Given the description of an element on the screen output the (x, y) to click on. 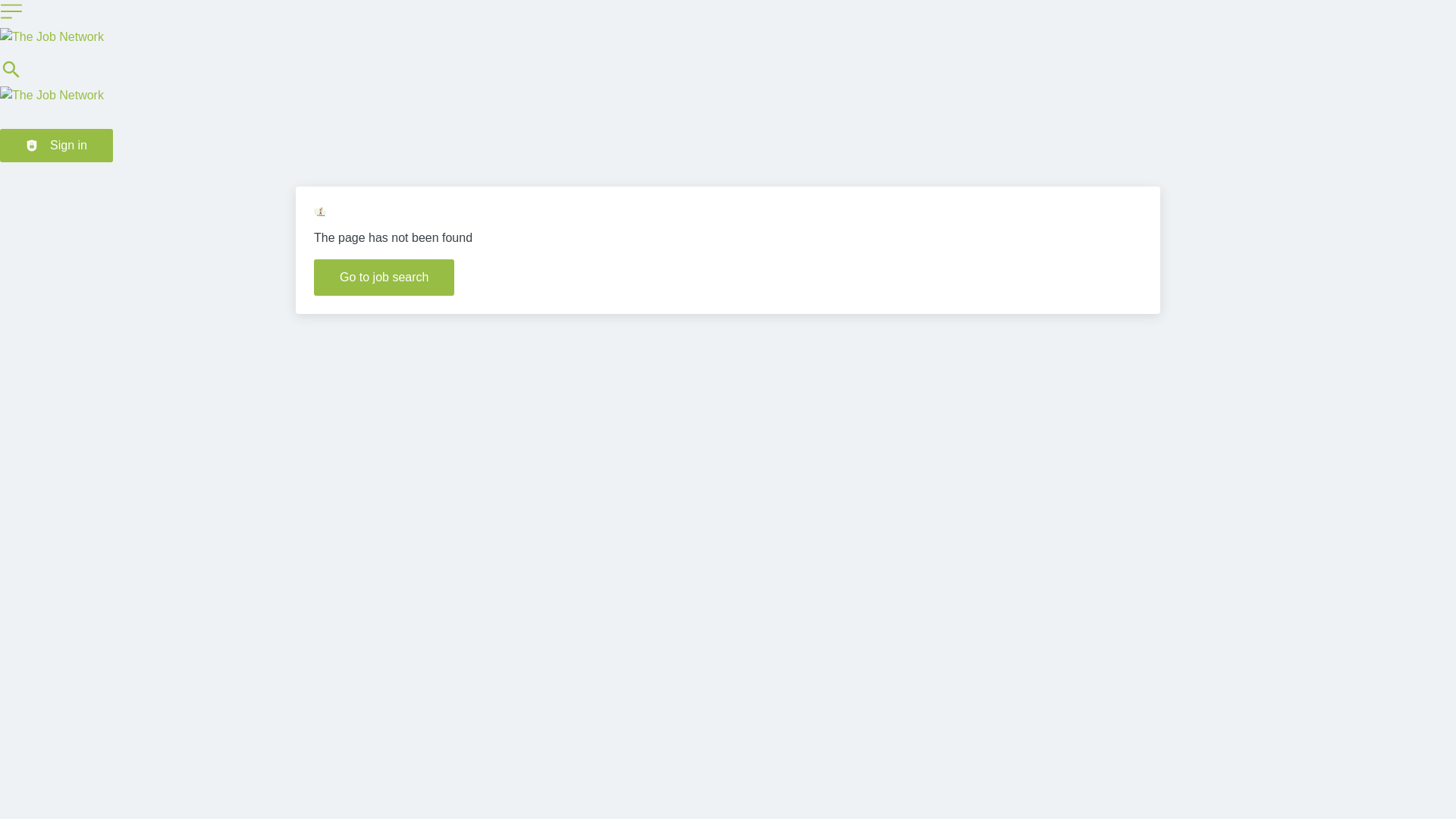
Search (11, 76)
Page not found (320, 211)
Menu (11, 11)
Sign in (56, 145)
Search (11, 69)
Go to job search (384, 277)
